Given the description of an element on the screen output the (x, y) to click on. 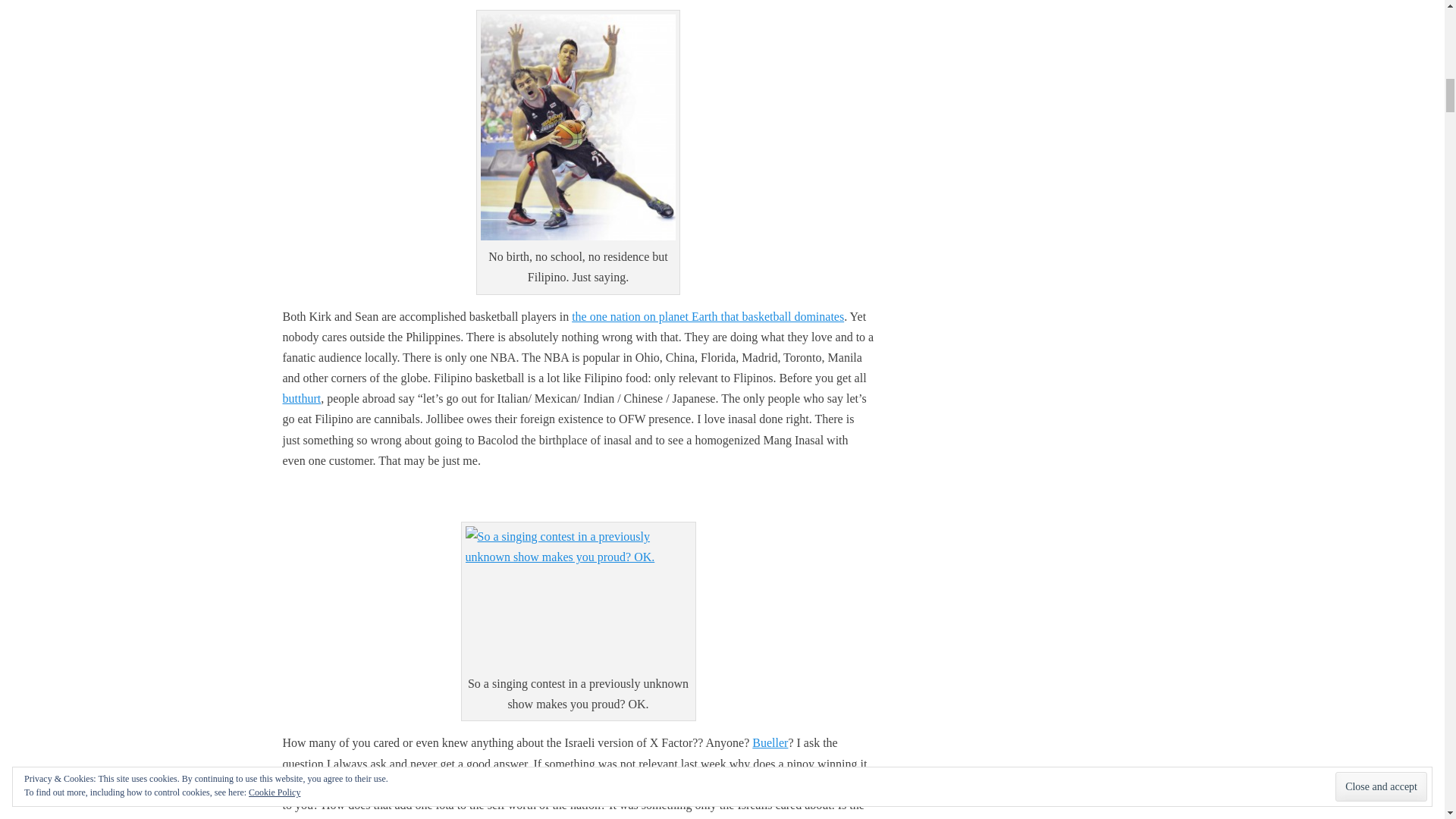
Bueller (769, 742)
Sucking despite advantage (708, 316)
Butthurt (301, 398)
the one nation on planet Earth that basketball dominates (708, 316)
butthurt (301, 398)
